Given the description of an element on the screen output the (x, y) to click on. 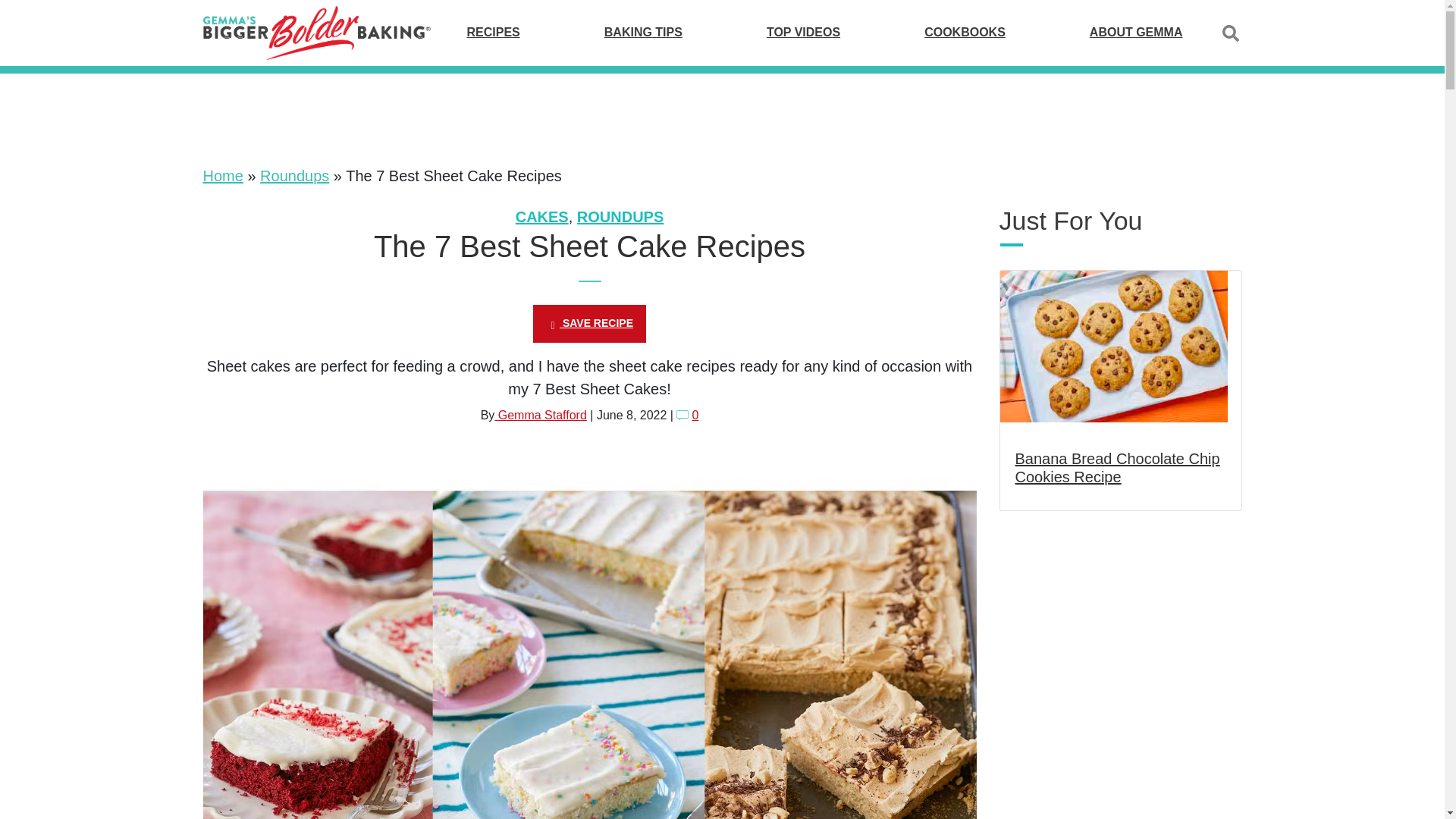
ROUNDUPS (619, 216)
ABOUT GEMMA (1135, 31)
Roundups (294, 175)
CAKES (542, 216)
TOP VIDEOS (803, 31)
Search (1230, 33)
Home (223, 175)
SAVE RECIPE (589, 323)
BAKING TIPS (643, 31)
RECIPES (493, 31)
